Given the description of an element on the screen output the (x, y) to click on. 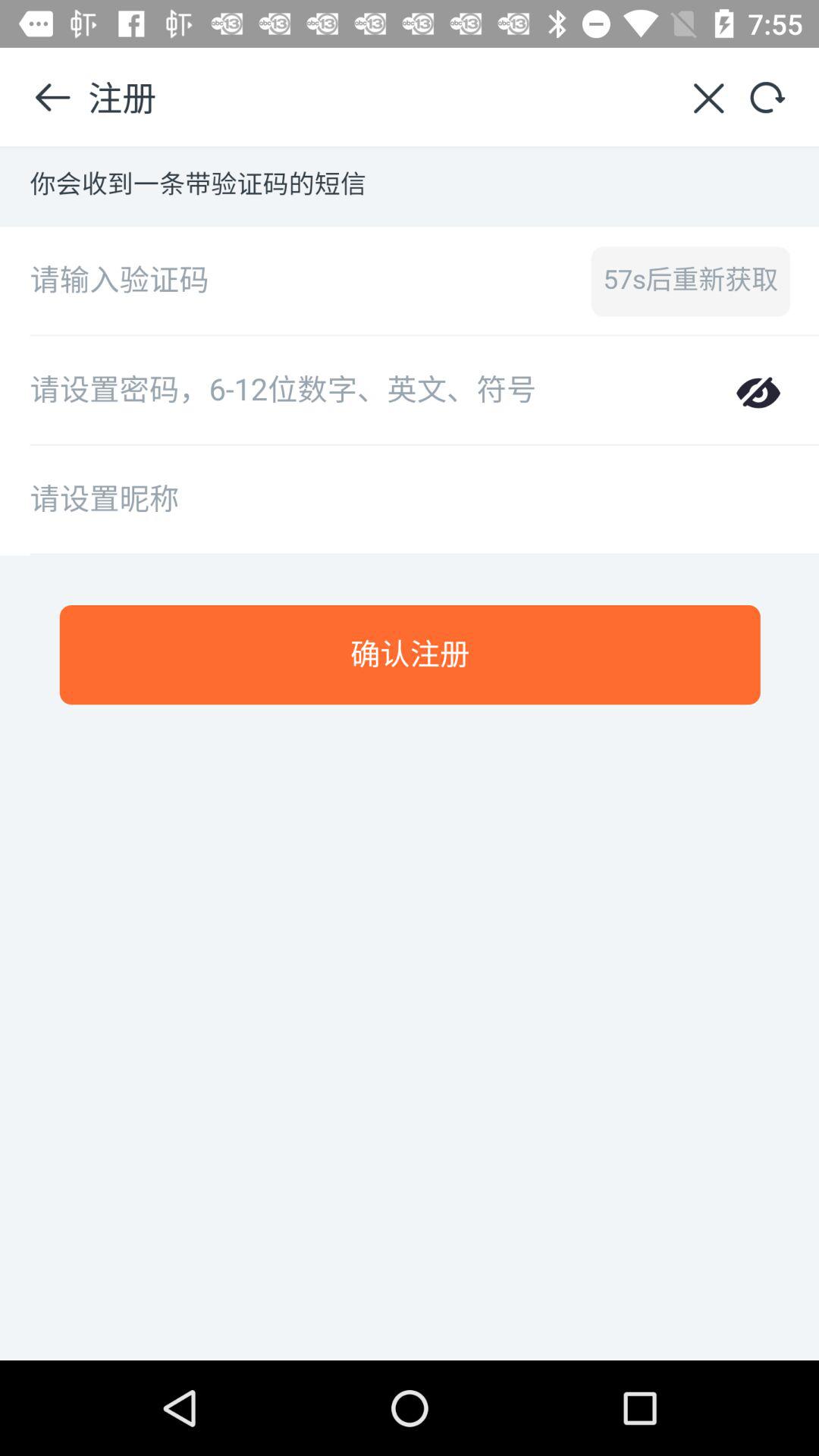
main image screen (409, 753)
